Given the description of an element on the screen output the (x, y) to click on. 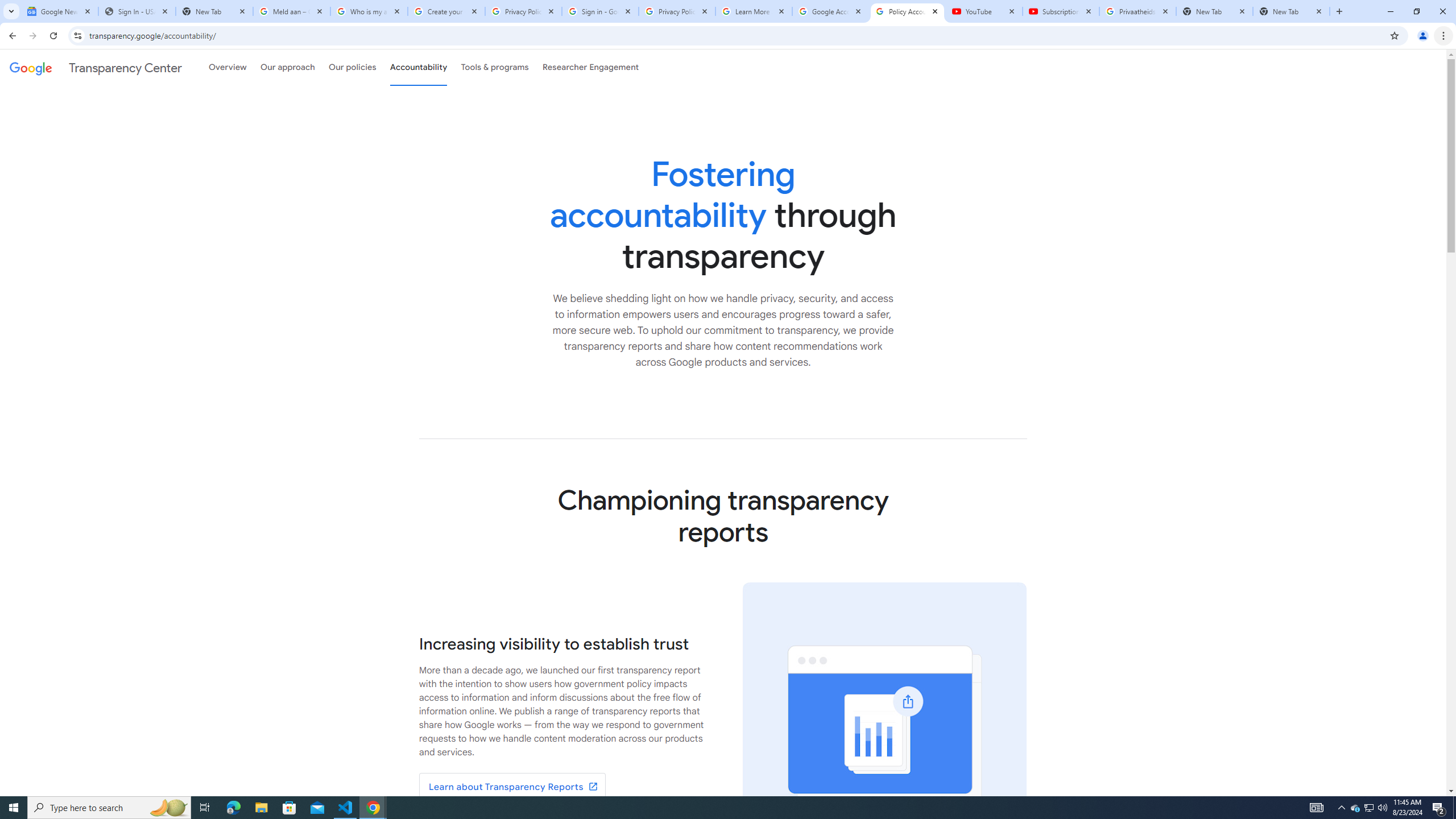
Google Account (830, 11)
Accountability (418, 67)
Our approach (287, 67)
Transparency Center (95, 67)
Sign in - Google Accounts (599, 11)
YouTube (983, 11)
